Given the description of an element on the screen output the (x, y) to click on. 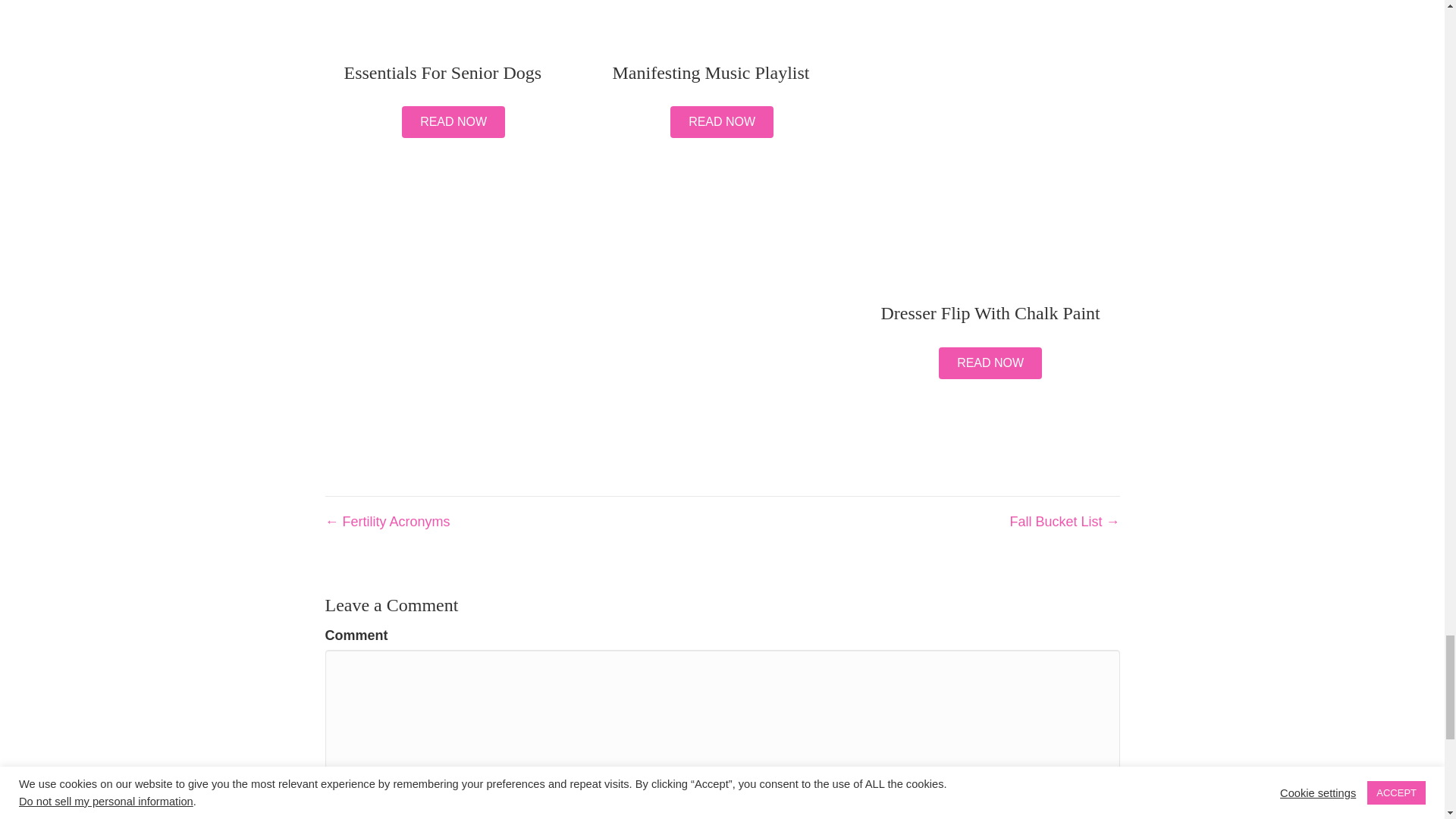
Dresser Flip with Chalk Paint (990, 312)
Essentials for Senior Dogs (442, 72)
Manifesting Music Playlist (710, 72)
Dresser Flip with Chalk Paint (989, 88)
